Given the description of an element on the screen output the (x, y) to click on. 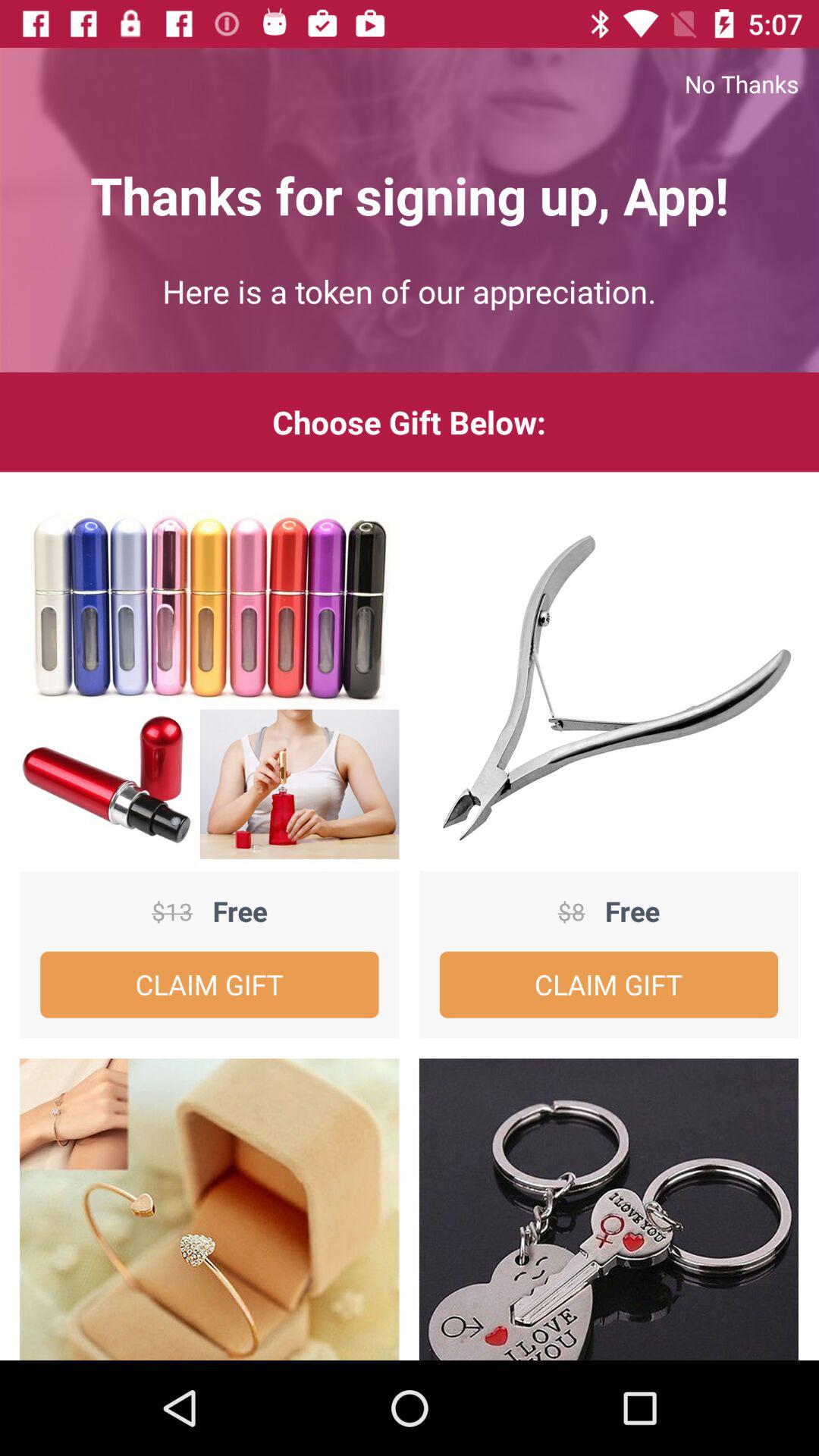
click icon above the thanks for signing (409, 83)
